Given the description of an element on the screen output the (x, y) to click on. 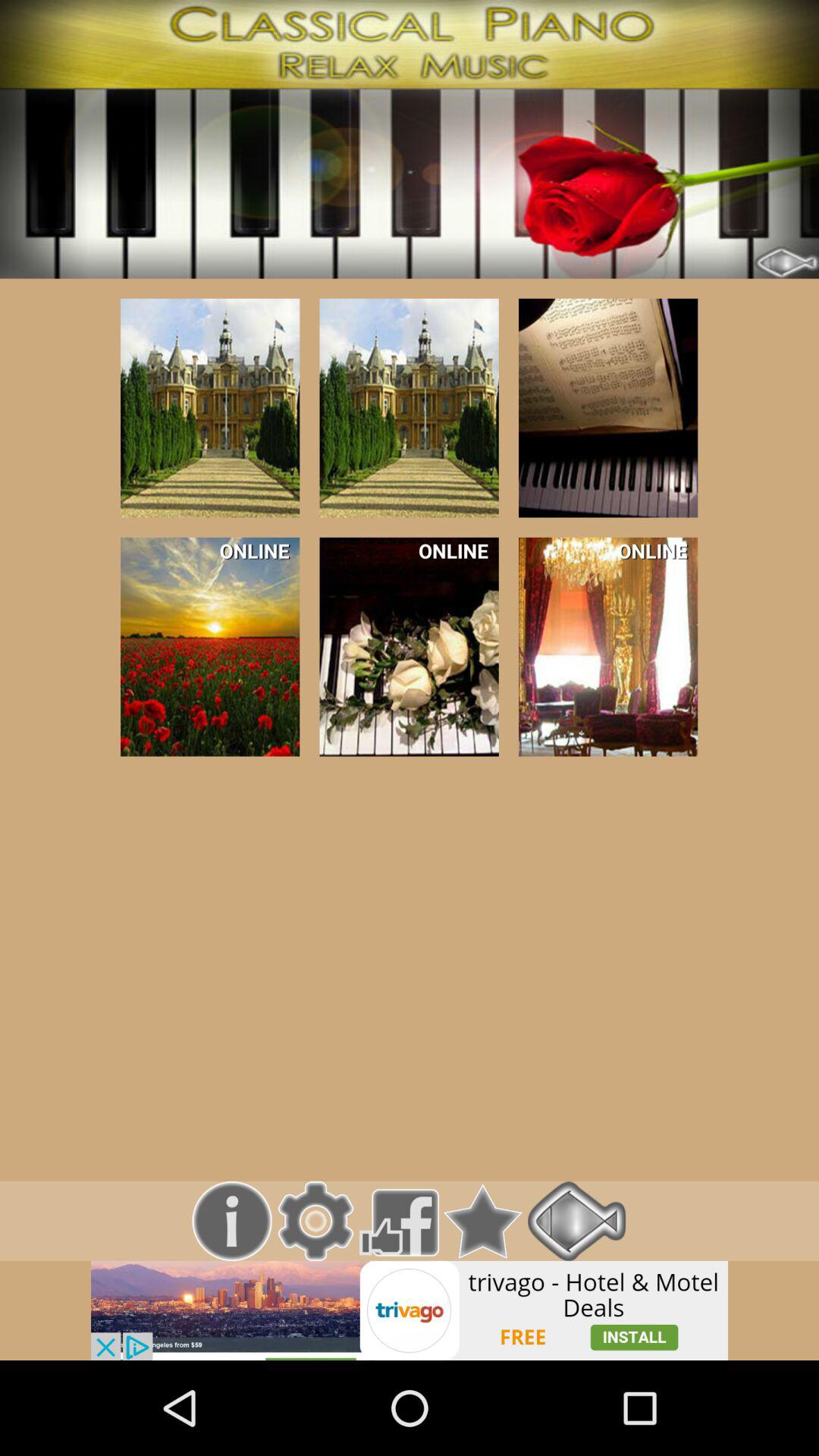
tap to select (607, 407)
